Given the description of an element on the screen output the (x, y) to click on. 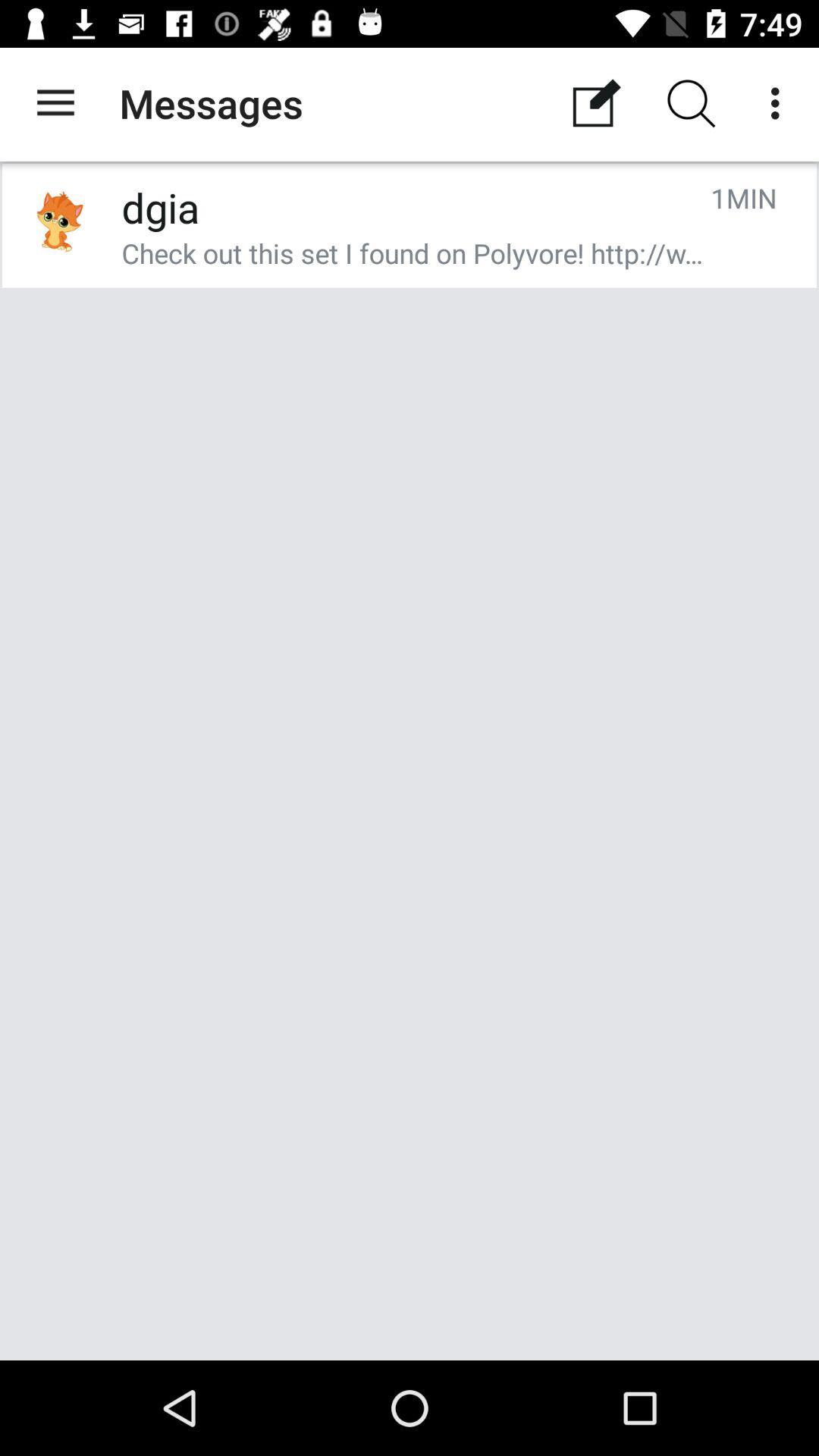
press item to the left of the messages item (55, 103)
